Given the description of an element on the screen output the (x, y) to click on. 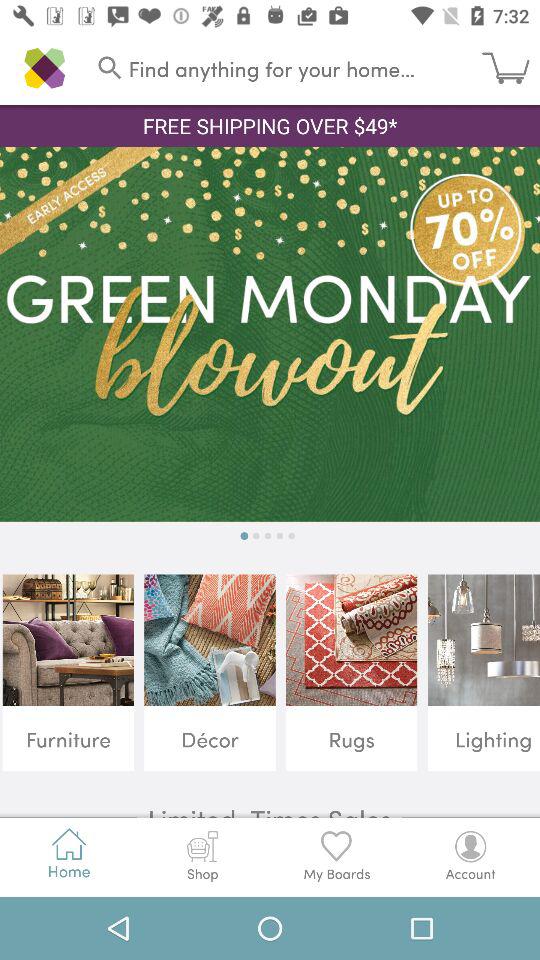
clique para aderir a oferta (270, 334)
